Given the description of an element on the screen output the (x, y) to click on. 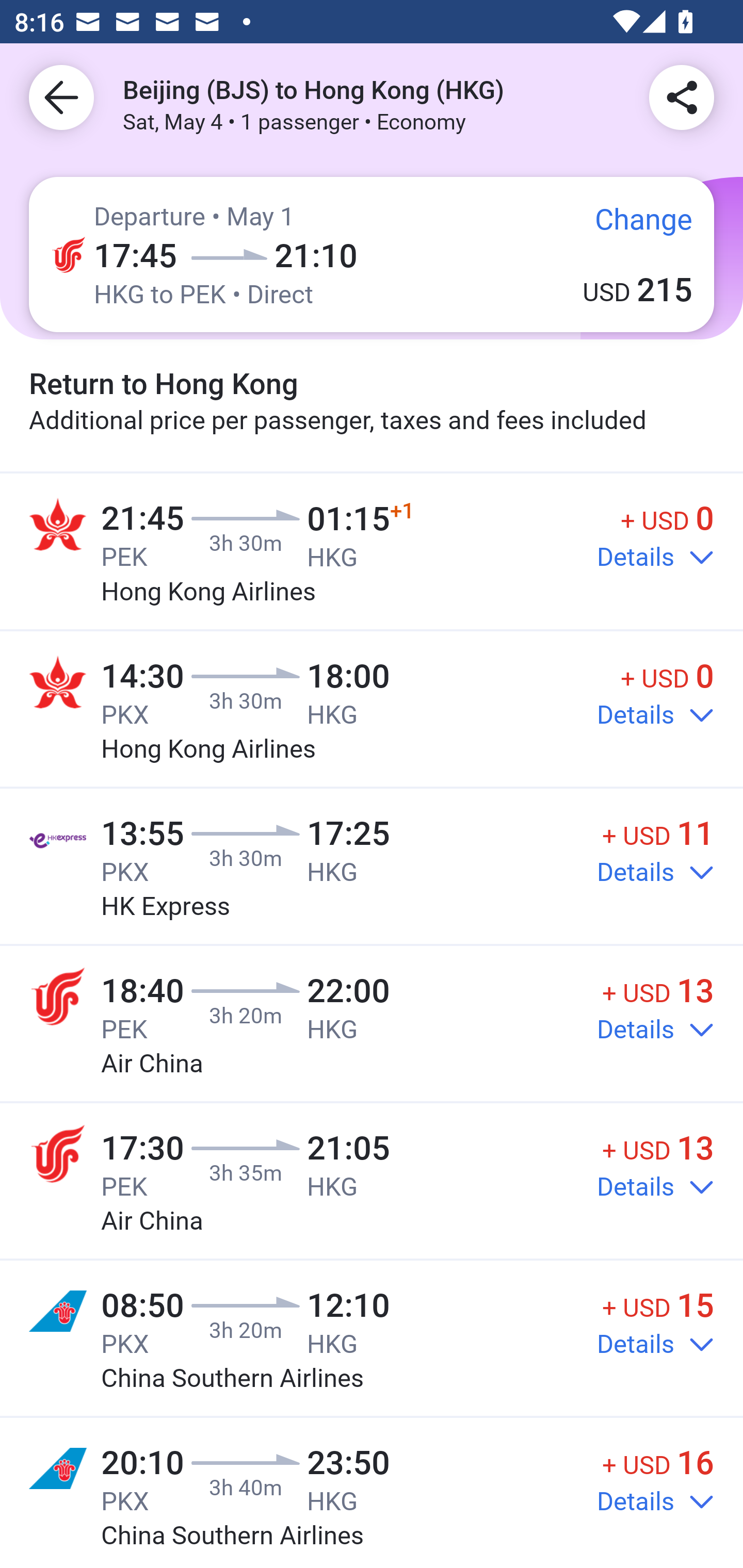
Change (629, 228)
